Given the description of an element on the screen output the (x, y) to click on. 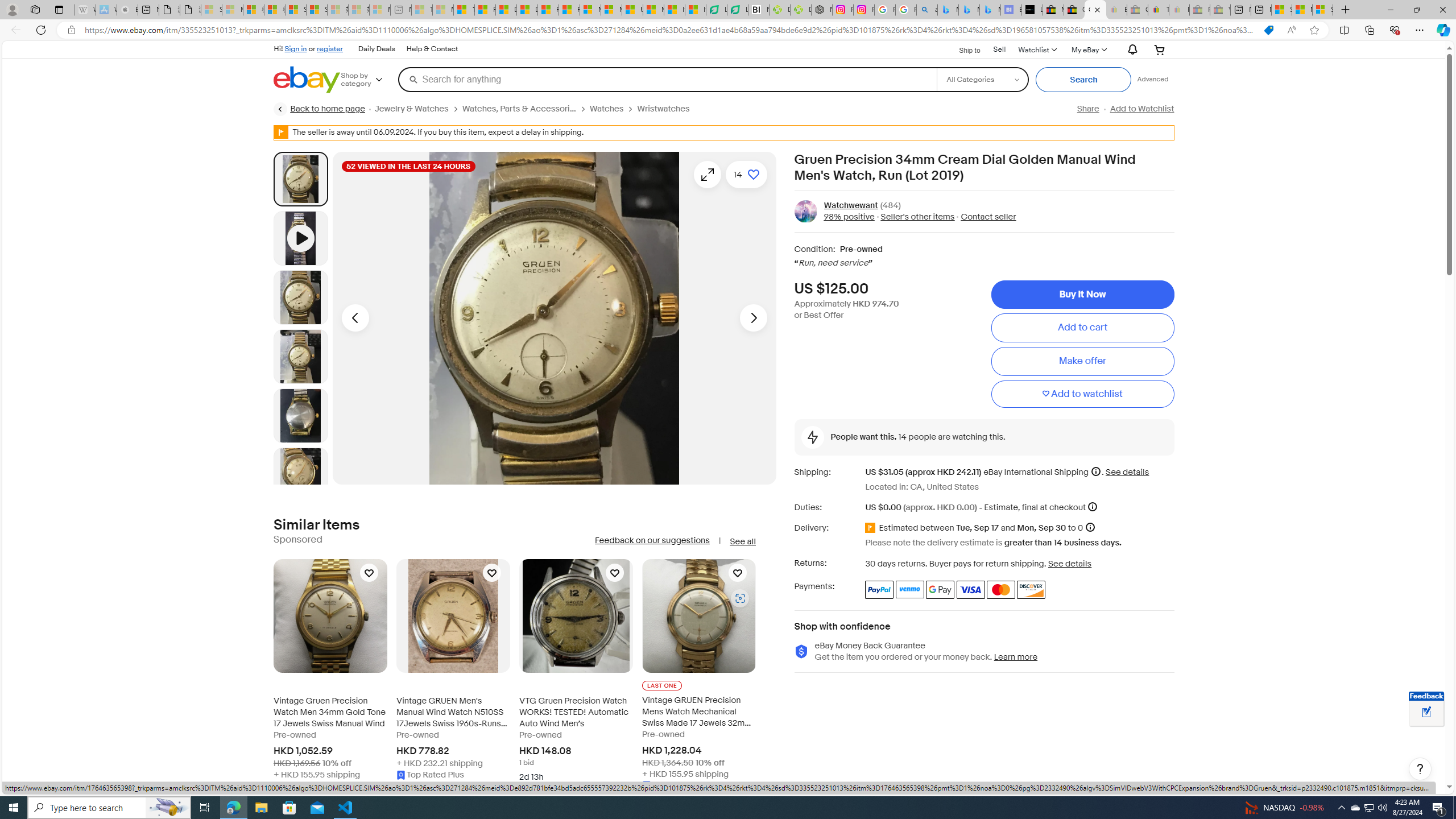
LendingTree - Compare Lenders (737, 9)
Video 1 of 1 (300, 237)
Delivery alert flag (871, 528)
Watchwewant (850, 205)
Add to Watchlist (1141, 108)
Add to cart (1082, 328)
Foo BAR | Trusted Community Engagement and Contributions (569, 9)
Add to cart (1082, 328)
